Given the description of an element on the screen output the (x, y) to click on. 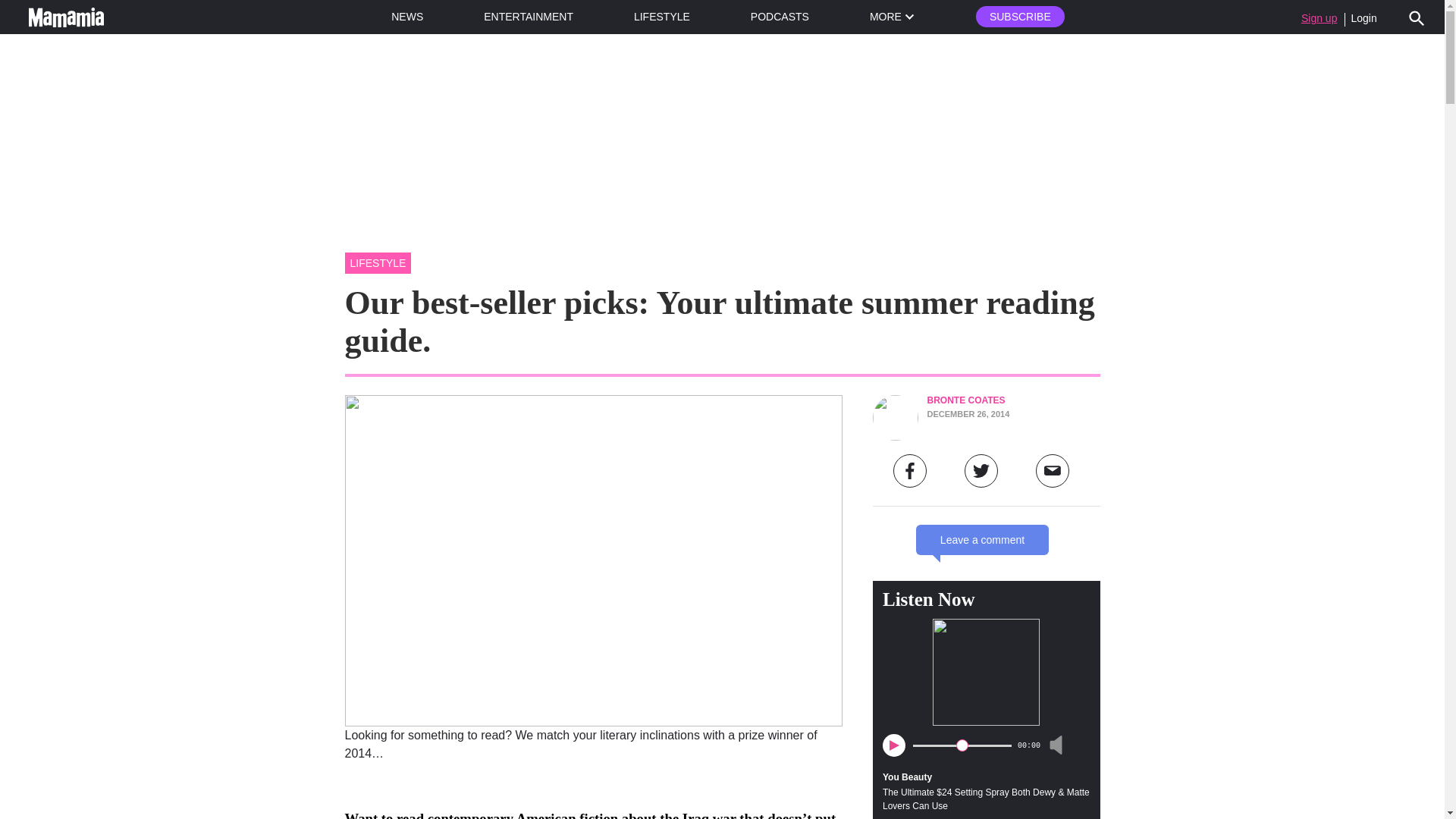
NEWS (407, 16)
ENTERTAINMENT (528, 16)
Search (1416, 17)
LIFESTYLE (661, 16)
MORE (892, 17)
PODCASTS (780, 16)
591 (961, 745)
